Given the description of an element on the screen output the (x, y) to click on. 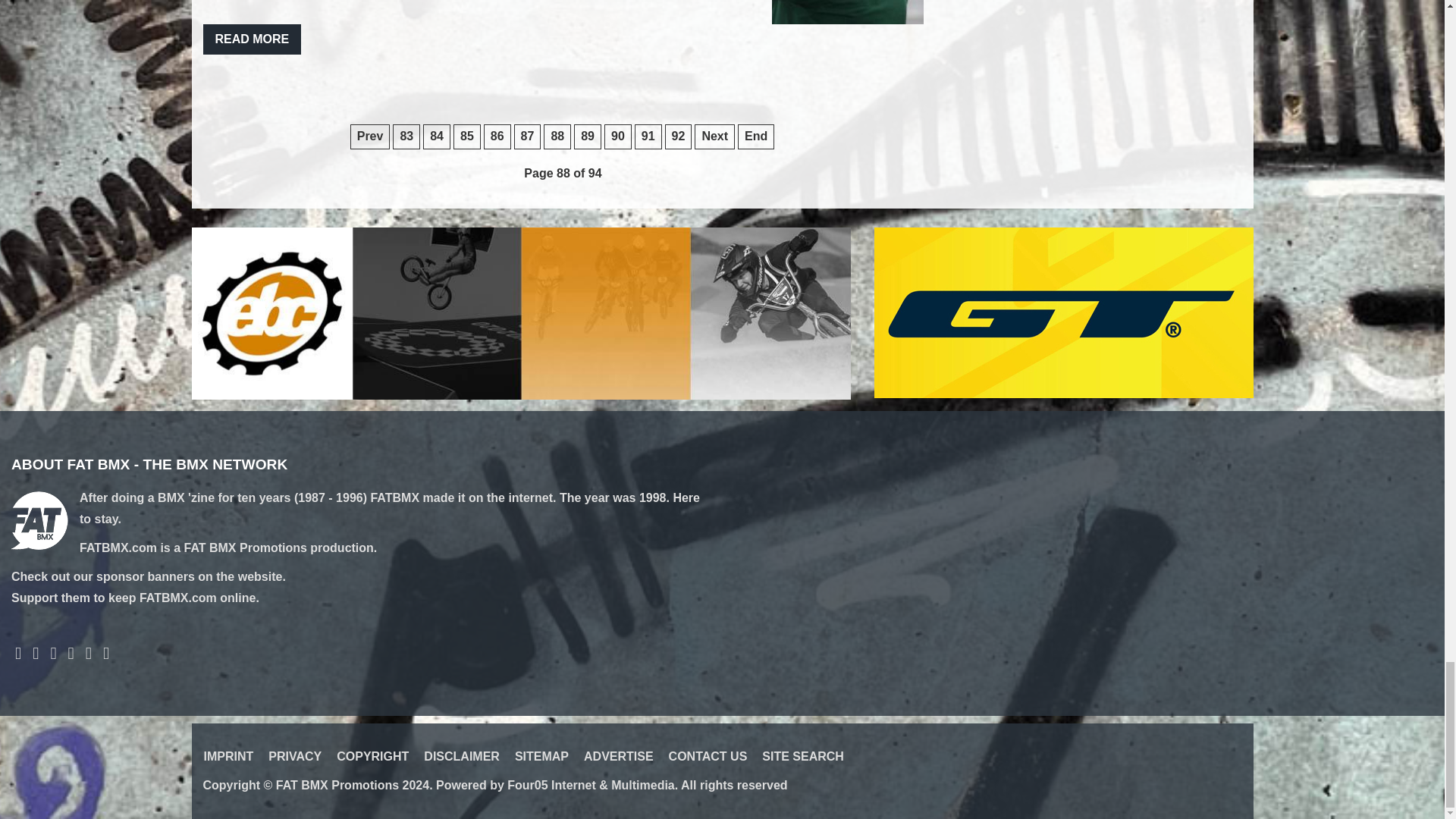
Dustin Guenther Redline Pro (847, 12)
